Given the description of an element on the screen output the (x, y) to click on. 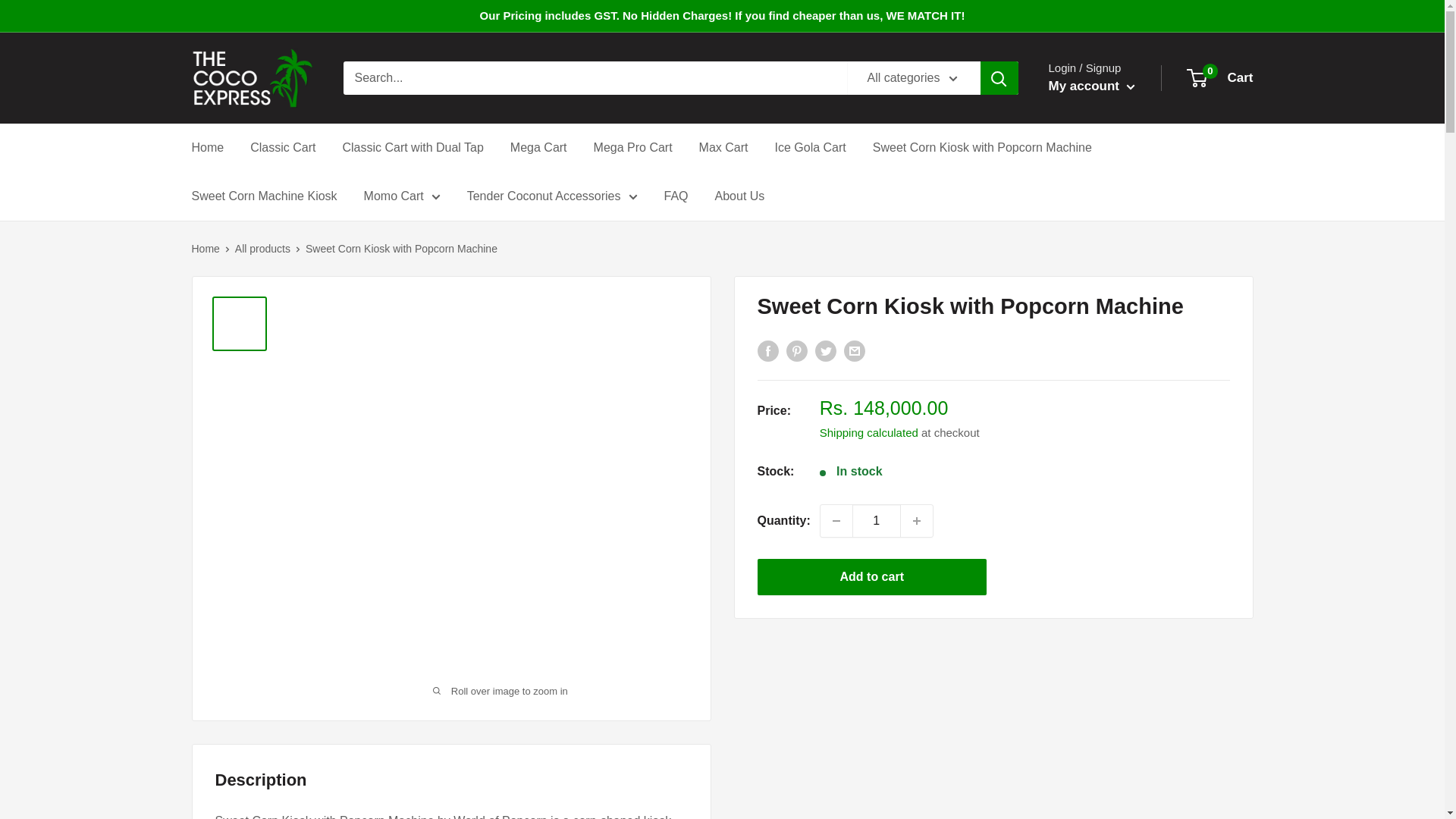
Decrease quantity by 1 (836, 521)
Increase quantity by 1 (917, 521)
1 (876, 521)
The Coco Express (251, 77)
